Given the description of an element on the screen output the (x, y) to click on. 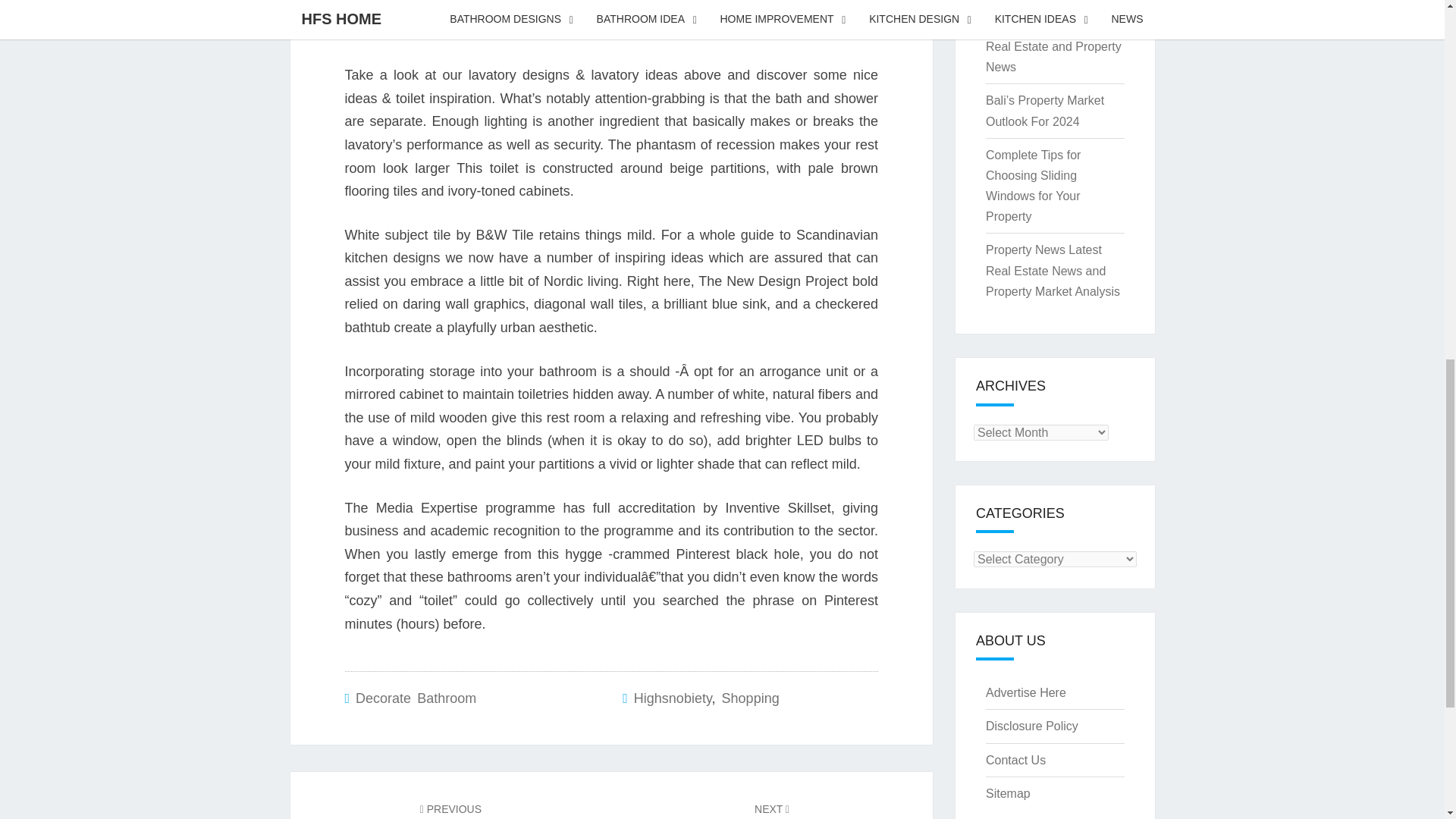
Highsnobiety (672, 698)
Decorate Bathroom (415, 698)
Shopping (451, 809)
